Given the description of an element on the screen output the (x, y) to click on. 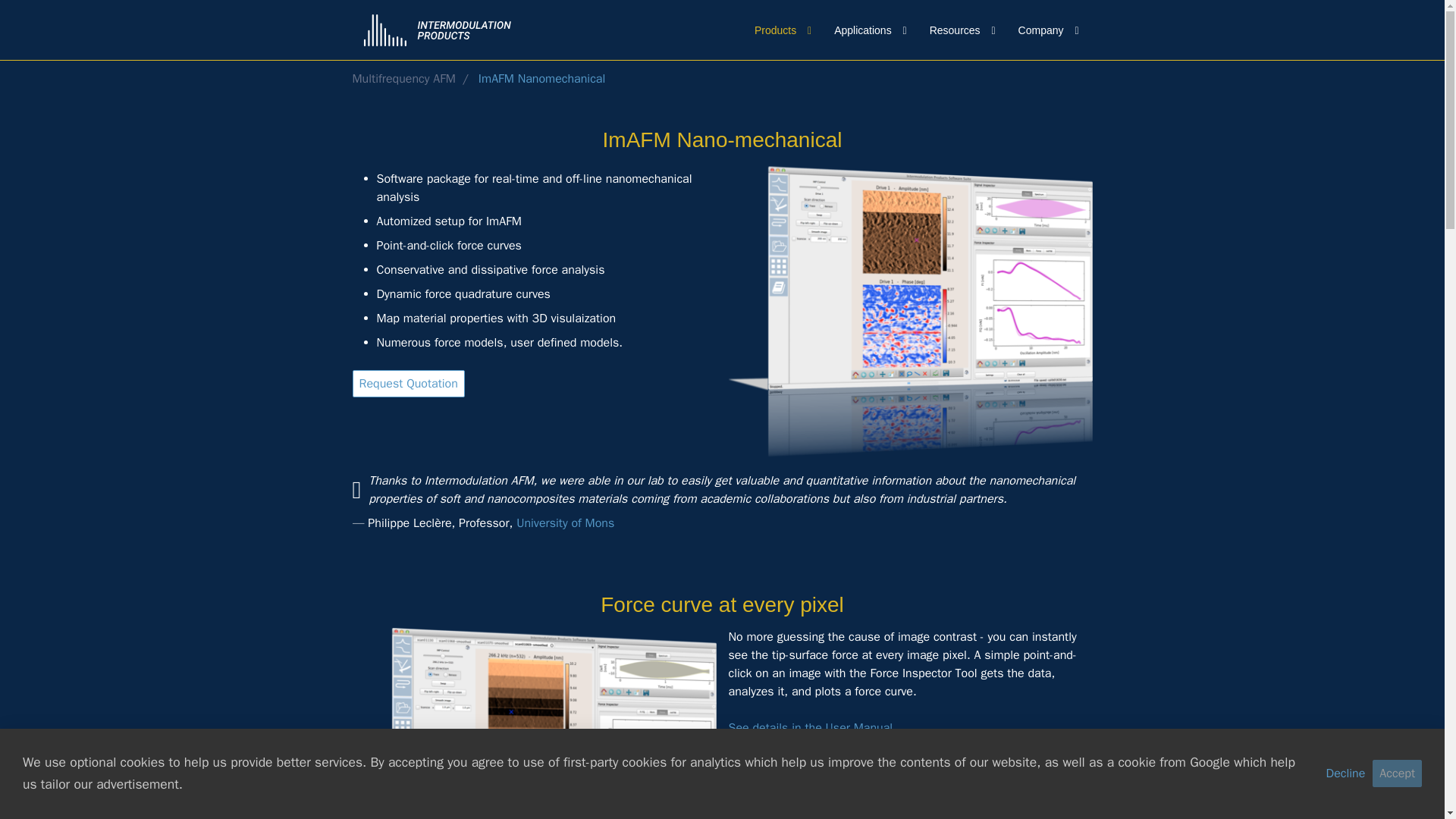
Applications (866, 29)
Request Quotation (408, 383)
ImAFM Nanomechanical (542, 78)
Company (1044, 29)
Resources (958, 29)
University of Mons (565, 522)
See details in the User Manual (810, 727)
Products (778, 29)
Multifrequency AFM (403, 78)
